Given the description of an element on the screen output the (x, y) to click on. 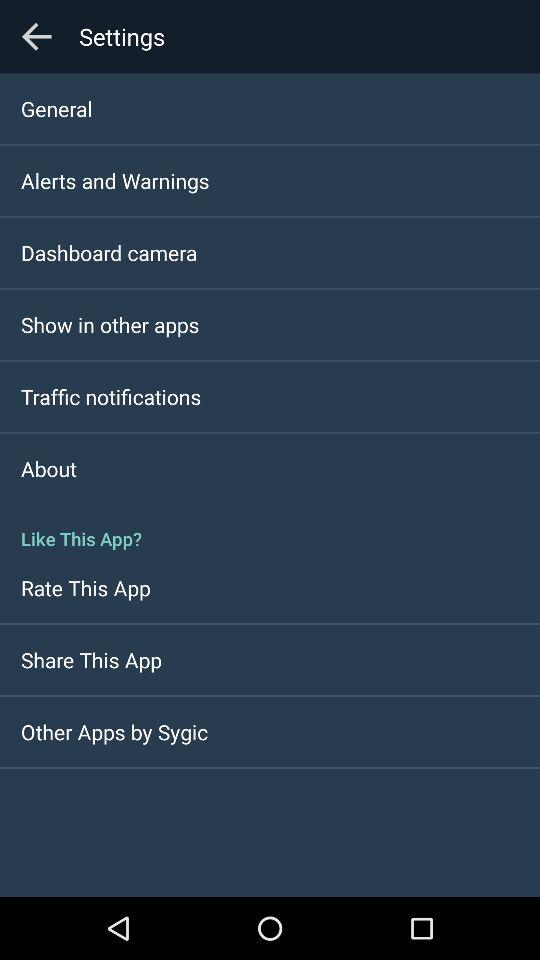
turn off the app above the show in other app (109, 252)
